Given the description of an element on the screen output the (x, y) to click on. 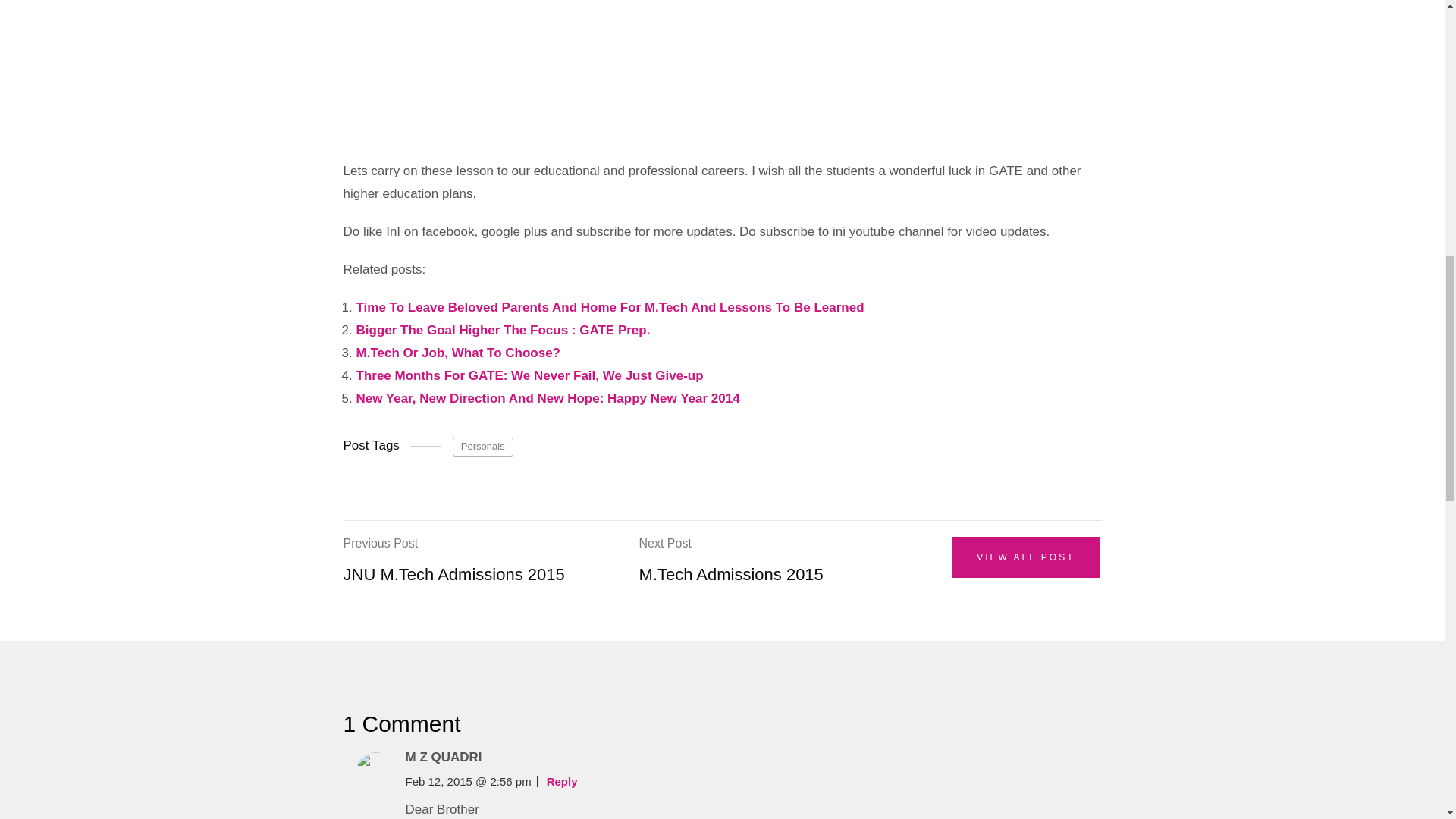
Bigger The Goal Higher The Focus : GATE Prep. (503, 329)
M.Tech Or Job, What To Choose? (458, 352)
Three Months For GATE: We Never Fail, We Just Give-up (529, 375)
Lessons From AAP and Arvind Kejriwal (585, 68)
New Year, New Direction And New Hope: Happy New Year 2014 (547, 398)
